Given the description of an element on the screen output the (x, y) to click on. 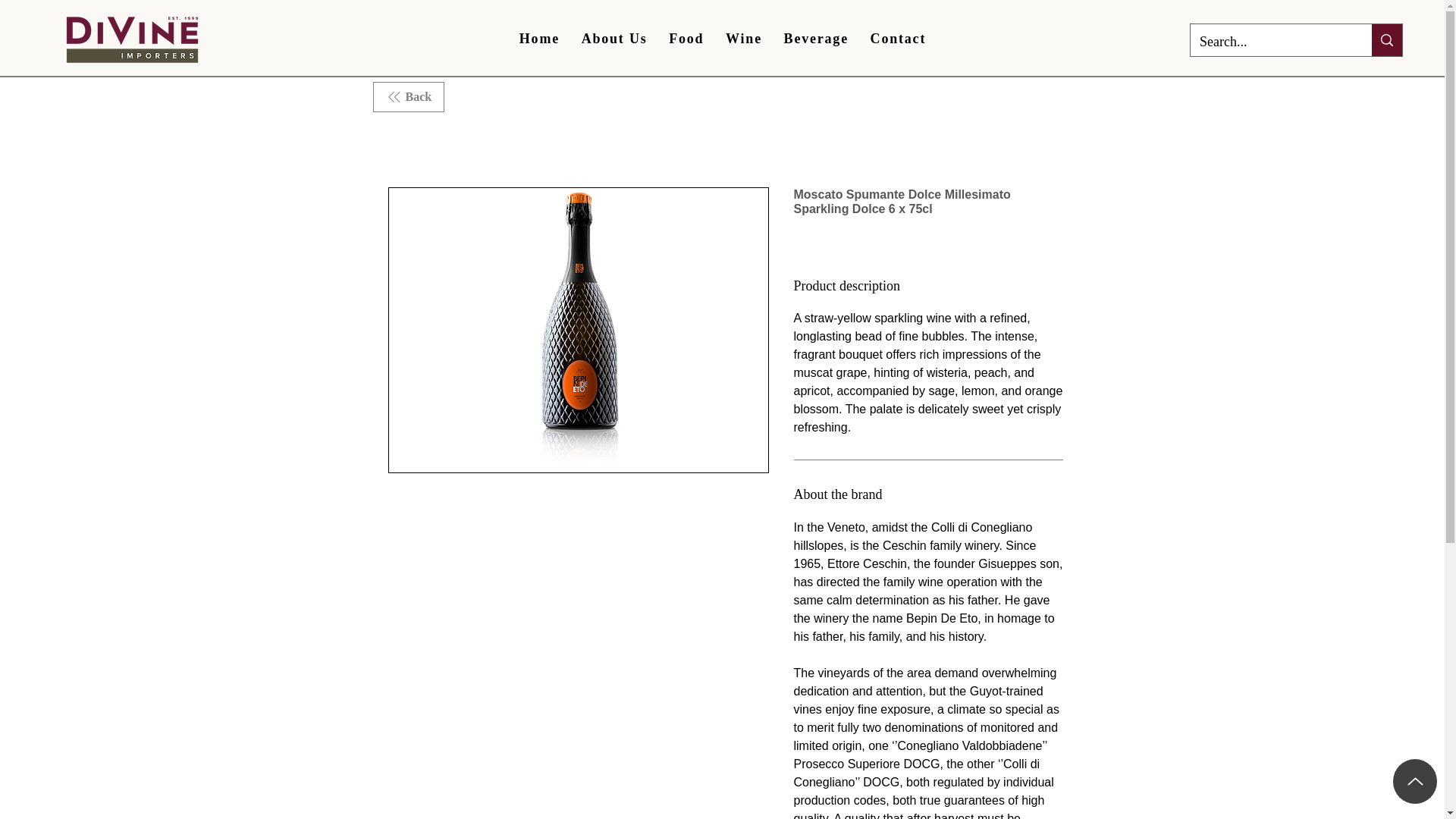
About Us (614, 39)
Home (539, 39)
